Given the description of an element on the screen output the (x, y) to click on. 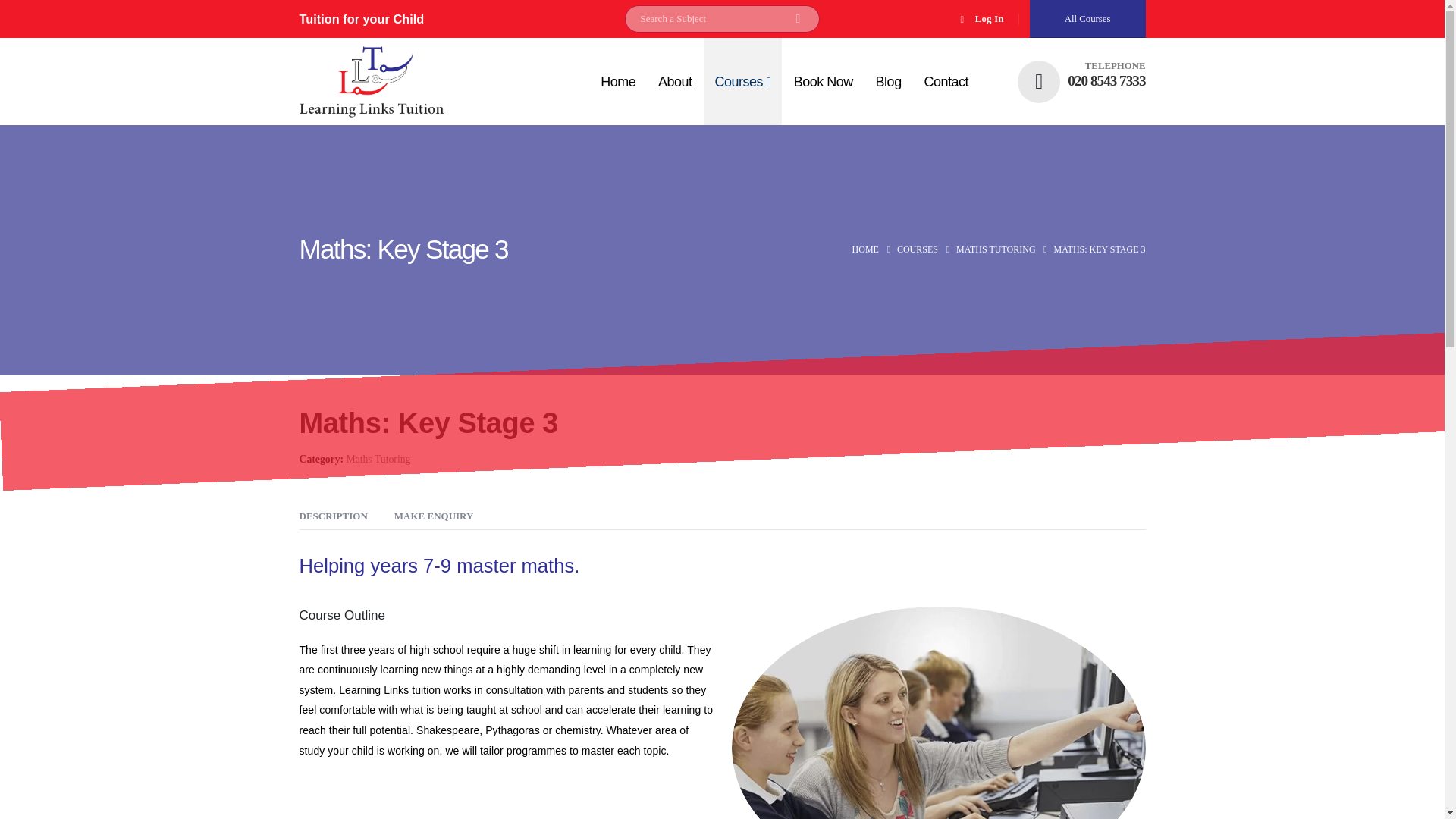
All Courses (1087, 18)
Book Now (823, 81)
Learning Links Tuition - Learning Links Tuition (370, 81)
ks3-1-min (937, 712)
020 8543 7333 (1105, 80)
Courses (742, 81)
Log In (979, 18)
Search (798, 18)
Go to Home Page (865, 249)
